Given the description of an element on the screen output the (x, y) to click on. 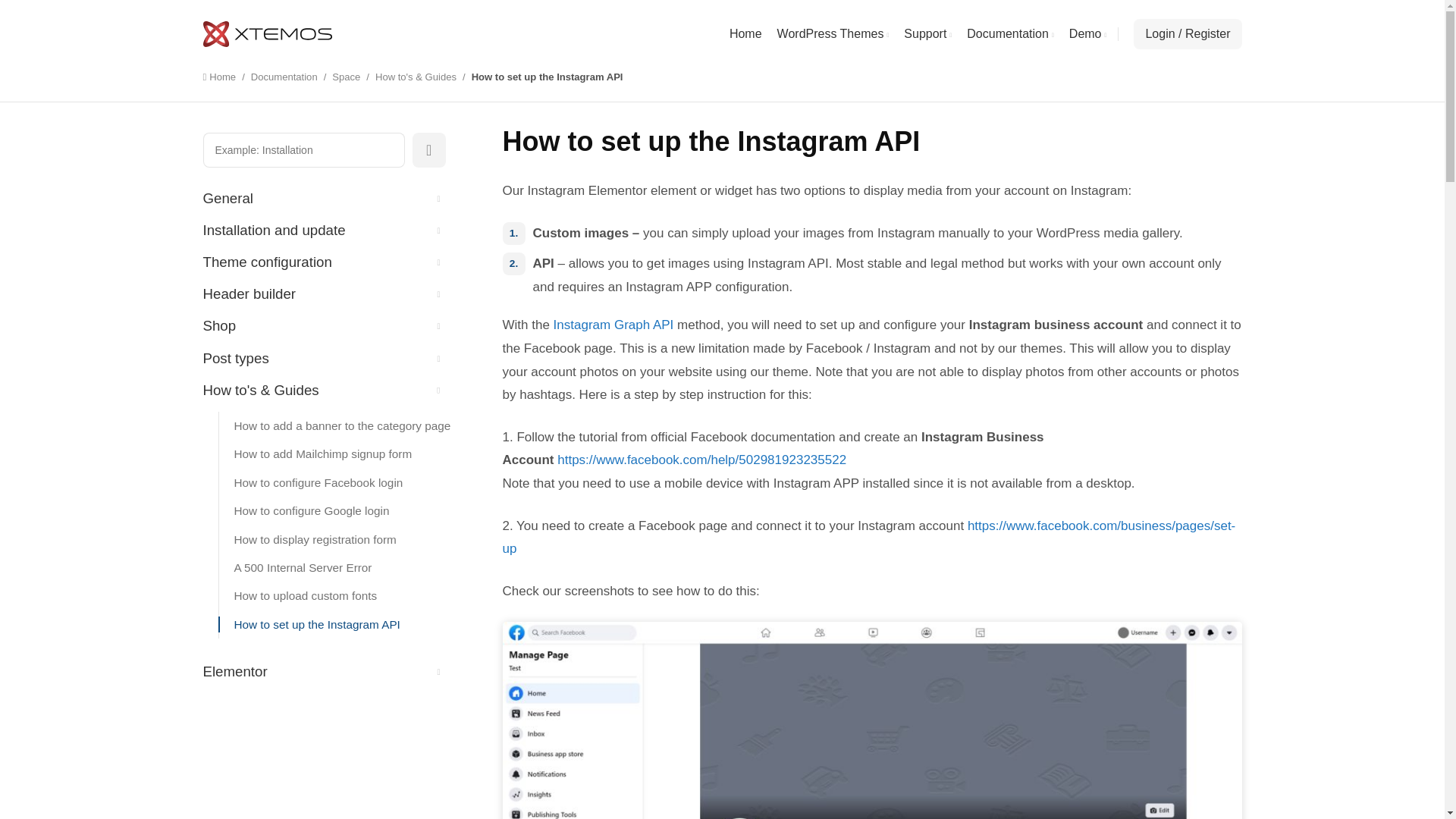
Home (745, 33)
Instagram Graph API (613, 324)
Support (928, 33)
My account (1187, 33)
Demo (1087, 33)
Space (345, 76)
Documentation (1010, 33)
Home (226, 76)
WordPress Themes (833, 33)
Documentation (283, 76)
General (324, 198)
